Given the description of an element on the screen output the (x, y) to click on. 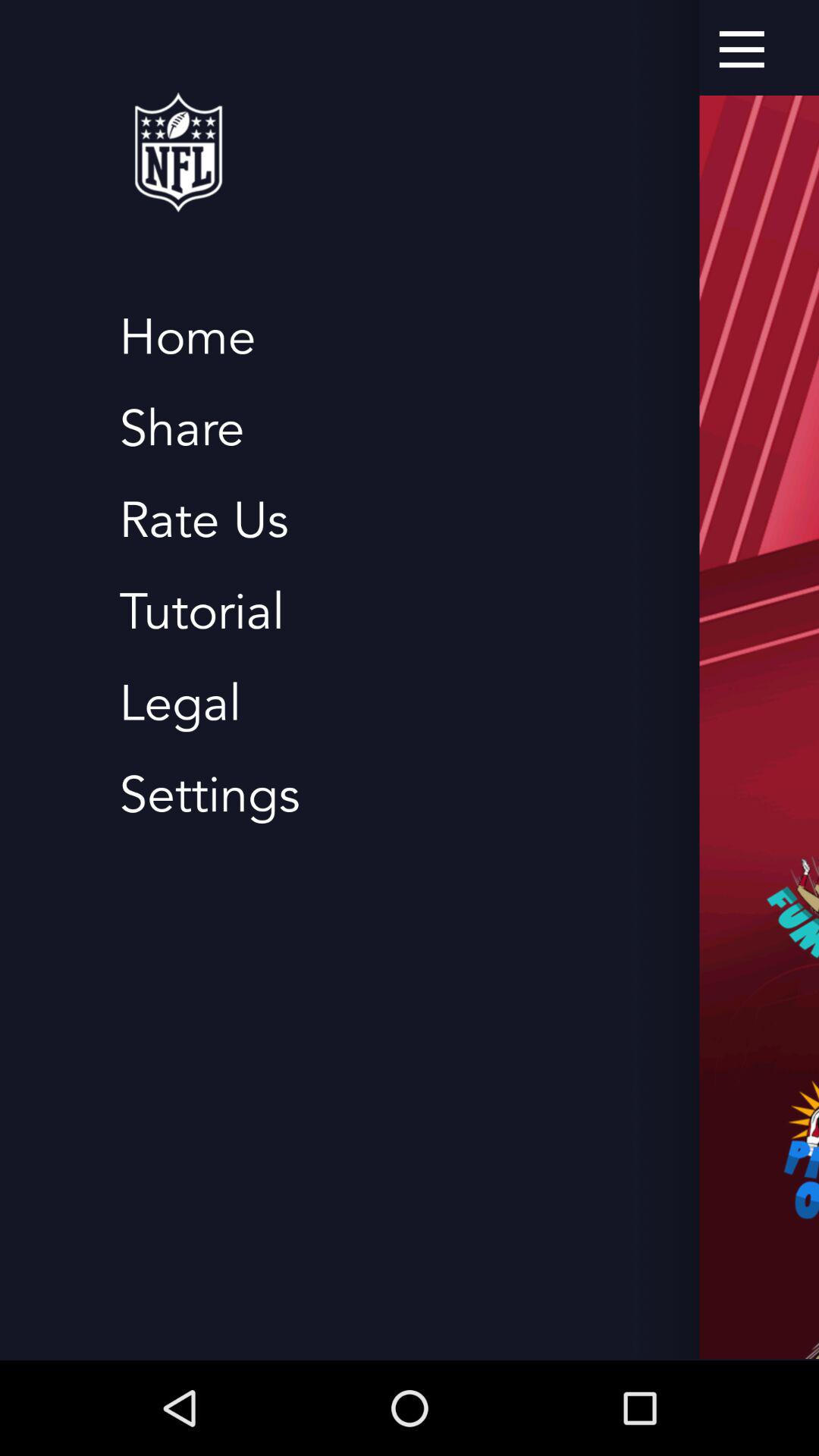
flip until the legal item (180, 703)
